Given the description of an element on the screen output the (x, y) to click on. 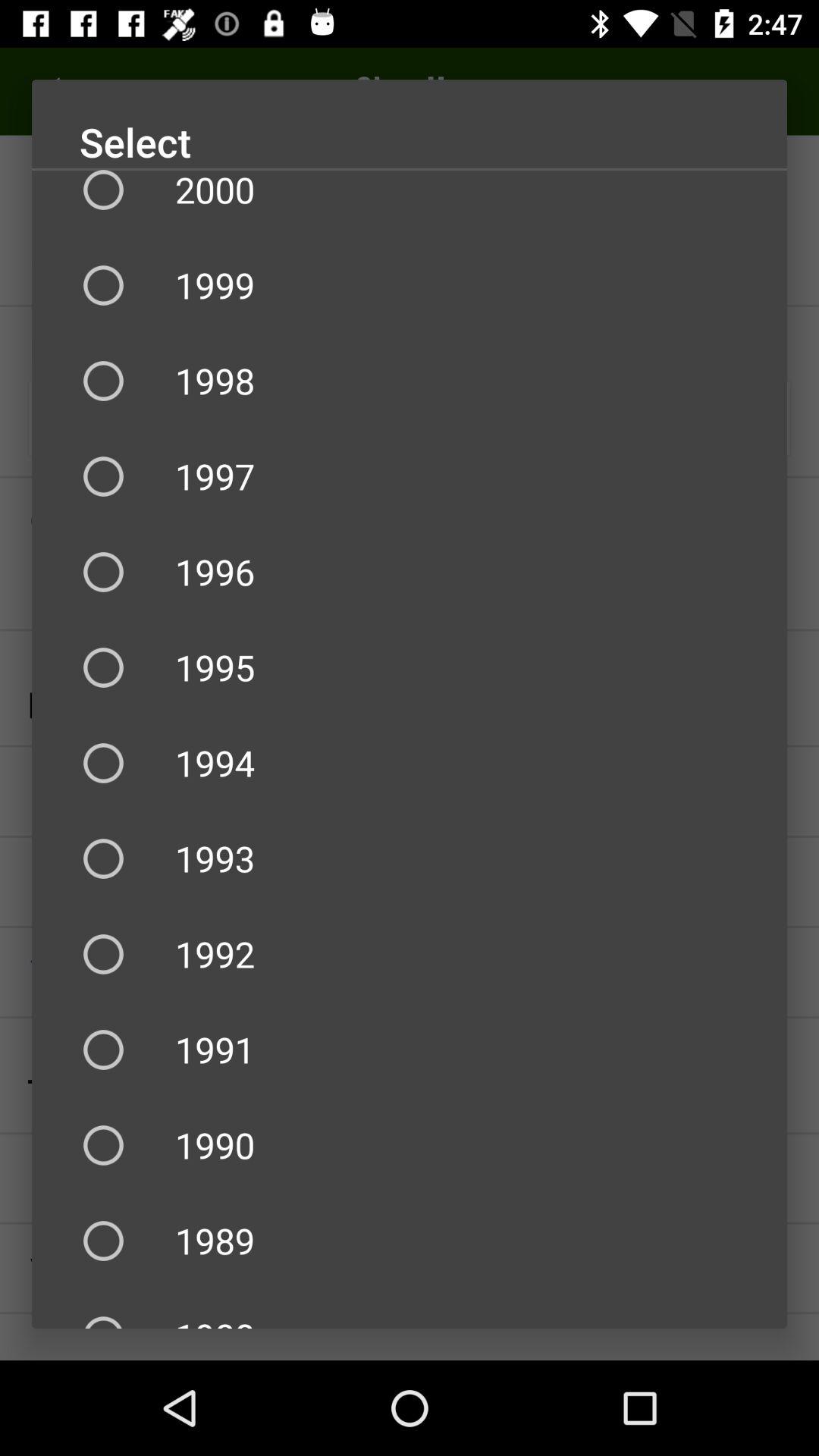
choose the icon below 1999 item (409, 380)
